Given the description of an element on the screen output the (x, y) to click on. 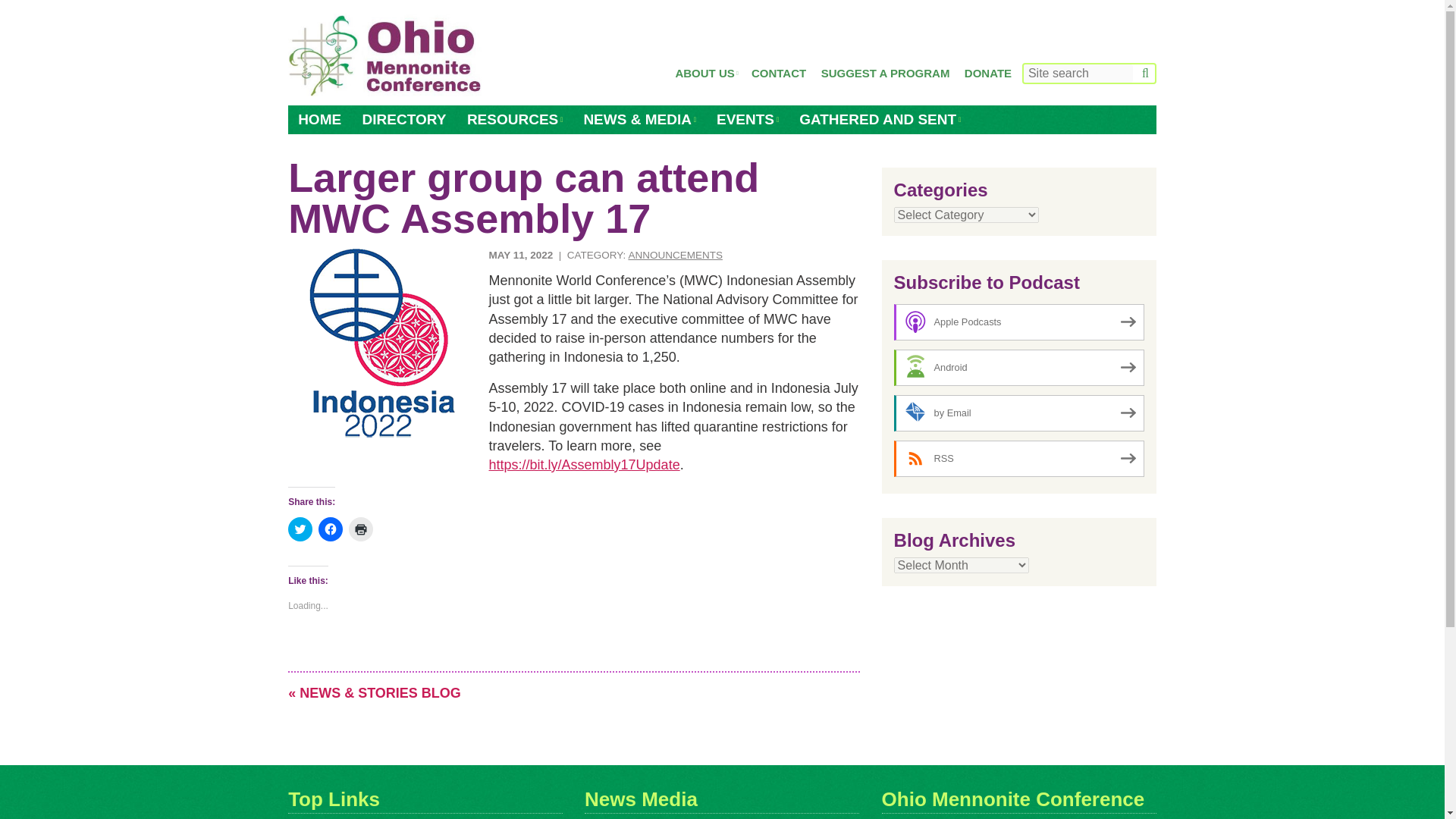
HOME (319, 119)
Subscribe on Android (1018, 367)
Click to share on Twitter (300, 528)
RESOURCES (514, 119)
Larger group can attend MWC Assembly 17 (382, 343)
Subscribe by Email (1018, 412)
Click to share on Facebook (330, 528)
Ohio Mennonite Conference (384, 55)
Subscribe on Apple Podcasts (1018, 321)
Click to print (360, 528)
DIRECTORY (404, 119)
Subscribe via RSS (1018, 458)
